Given the description of an element on the screen output the (x, y) to click on. 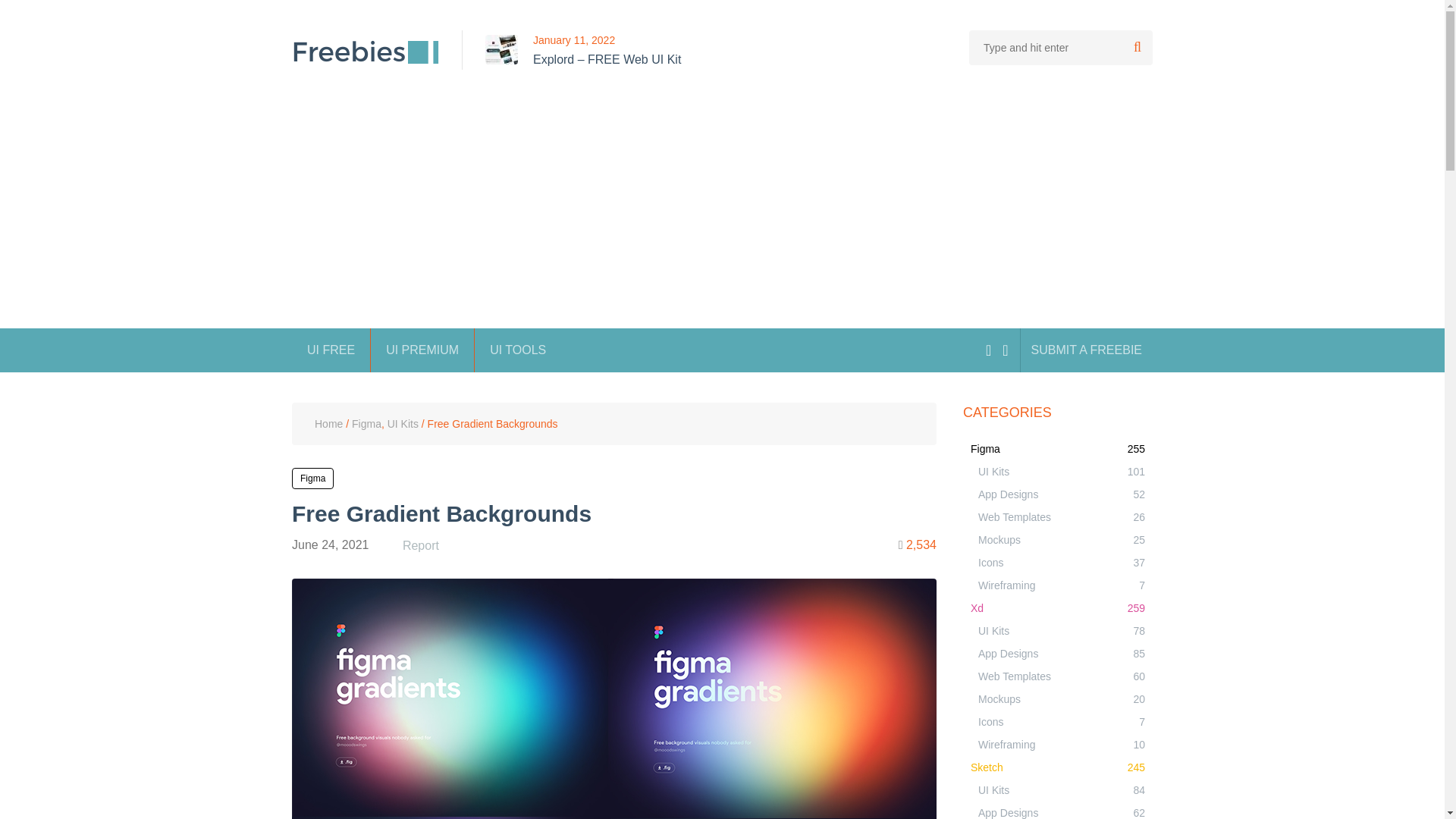
FreebiesUI (365, 52)
SUBMIT A FREEBIE (1086, 350)
UI TOOLS (517, 350)
Home (328, 423)
Figma (312, 477)
UI PREMIUM (422, 350)
UI FREE (330, 350)
